Given the description of an element on the screen output the (x, y) to click on. 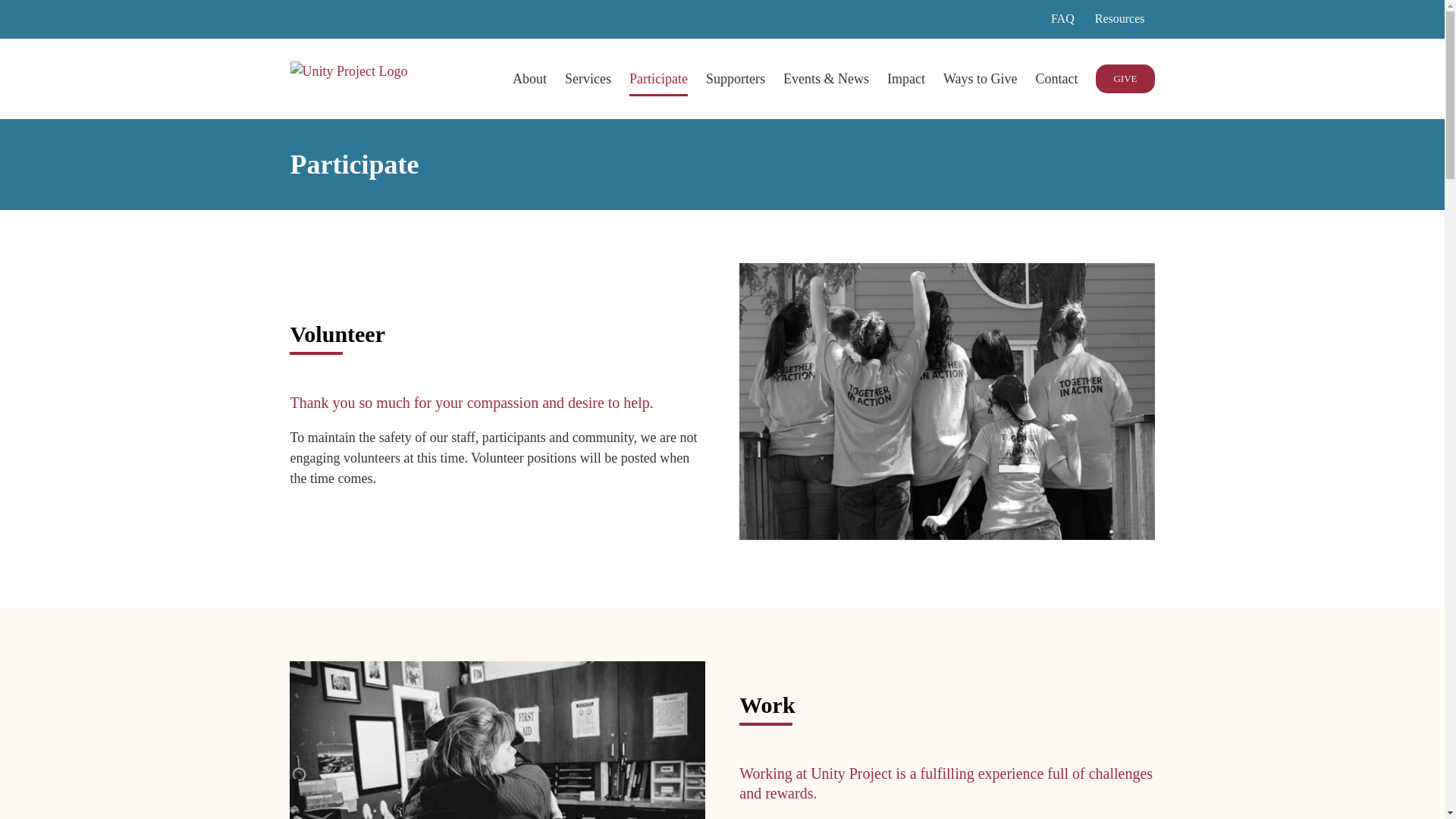
FAQ (1062, 18)
Ways to Give (980, 77)
Resources (1119, 18)
Volunteer (946, 400)
Work at Unity Project (496, 739)
